Given the description of an element on the screen output the (x, y) to click on. 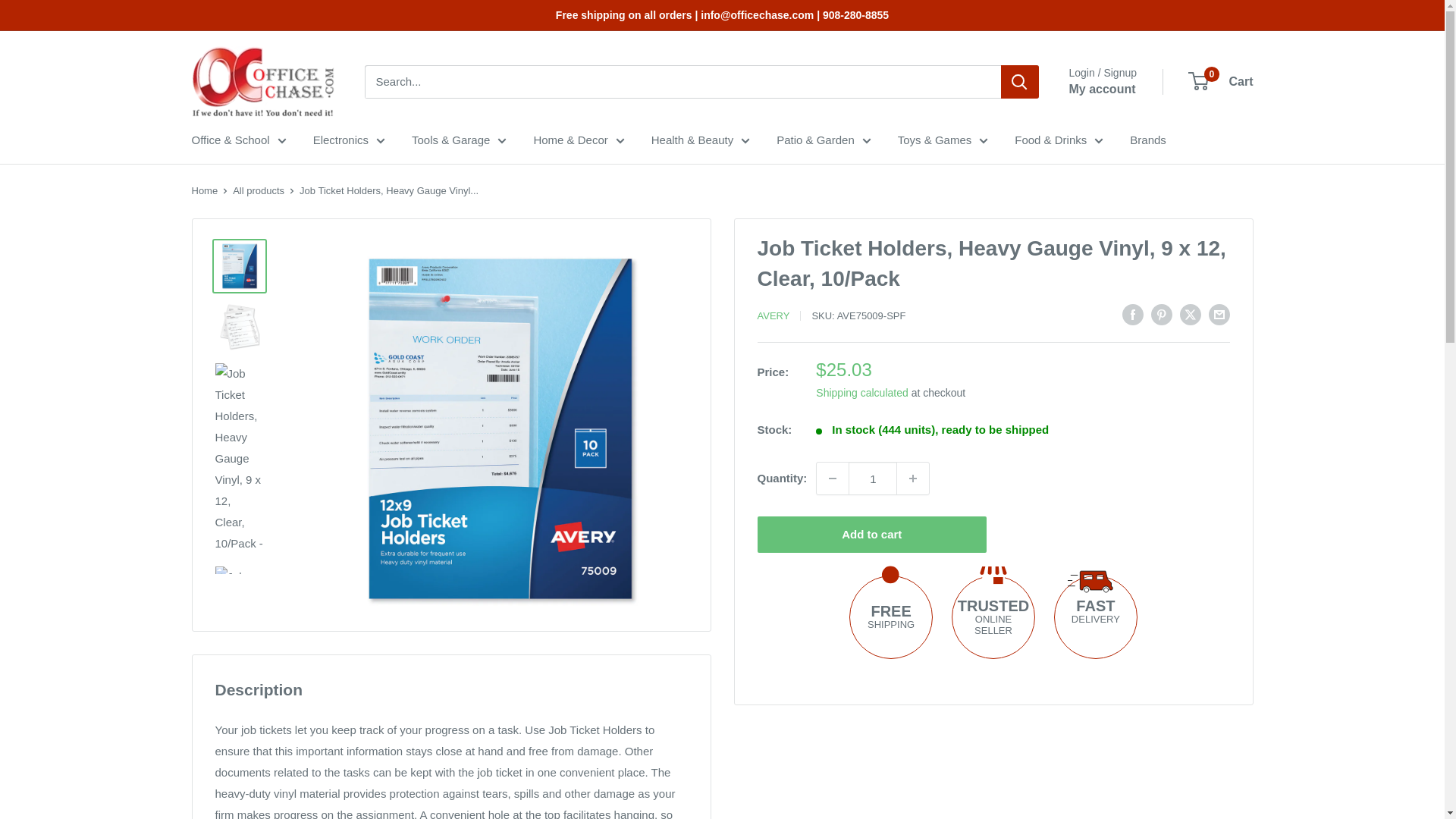
Decrease quantity by 1 (832, 478)
1 (872, 478)
Increase quantity by 1 (912, 478)
